Given the description of an element on the screen output the (x, y) to click on. 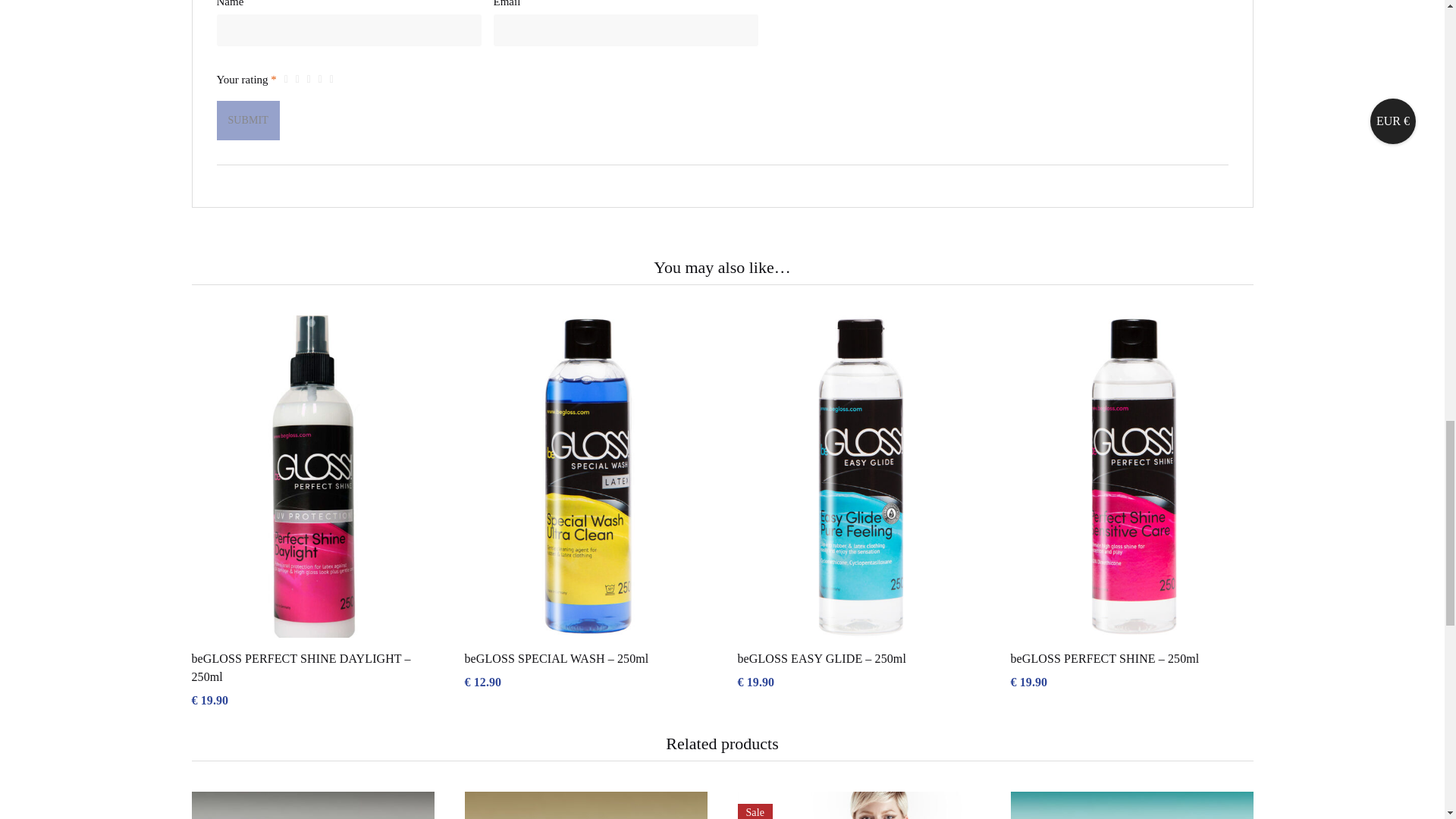
Submit (247, 120)
